Given the description of an element on the screen output the (x, y) to click on. 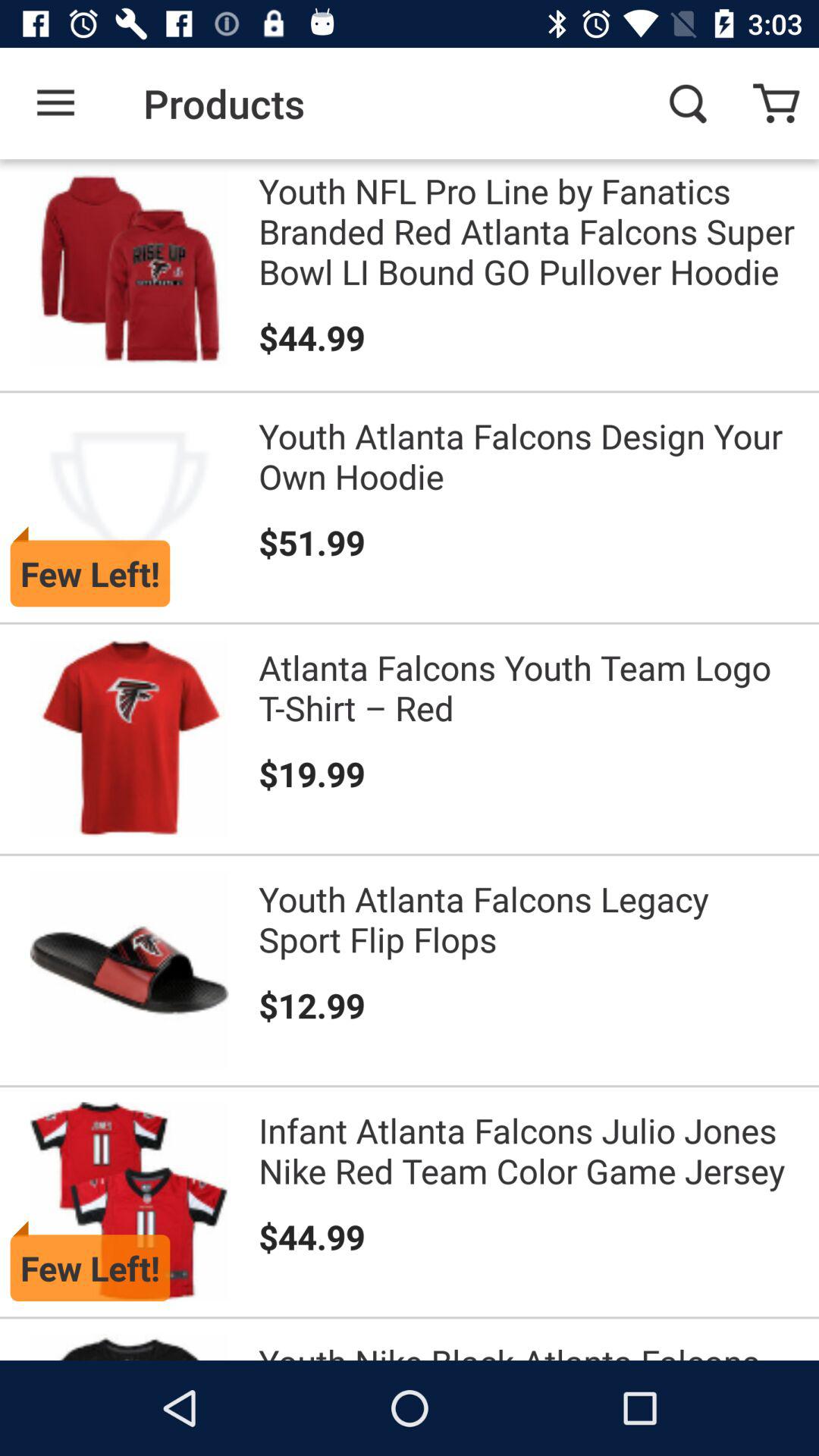
select the icon to the right of the products (687, 103)
